Given the description of an element on the screen output the (x, y) to click on. 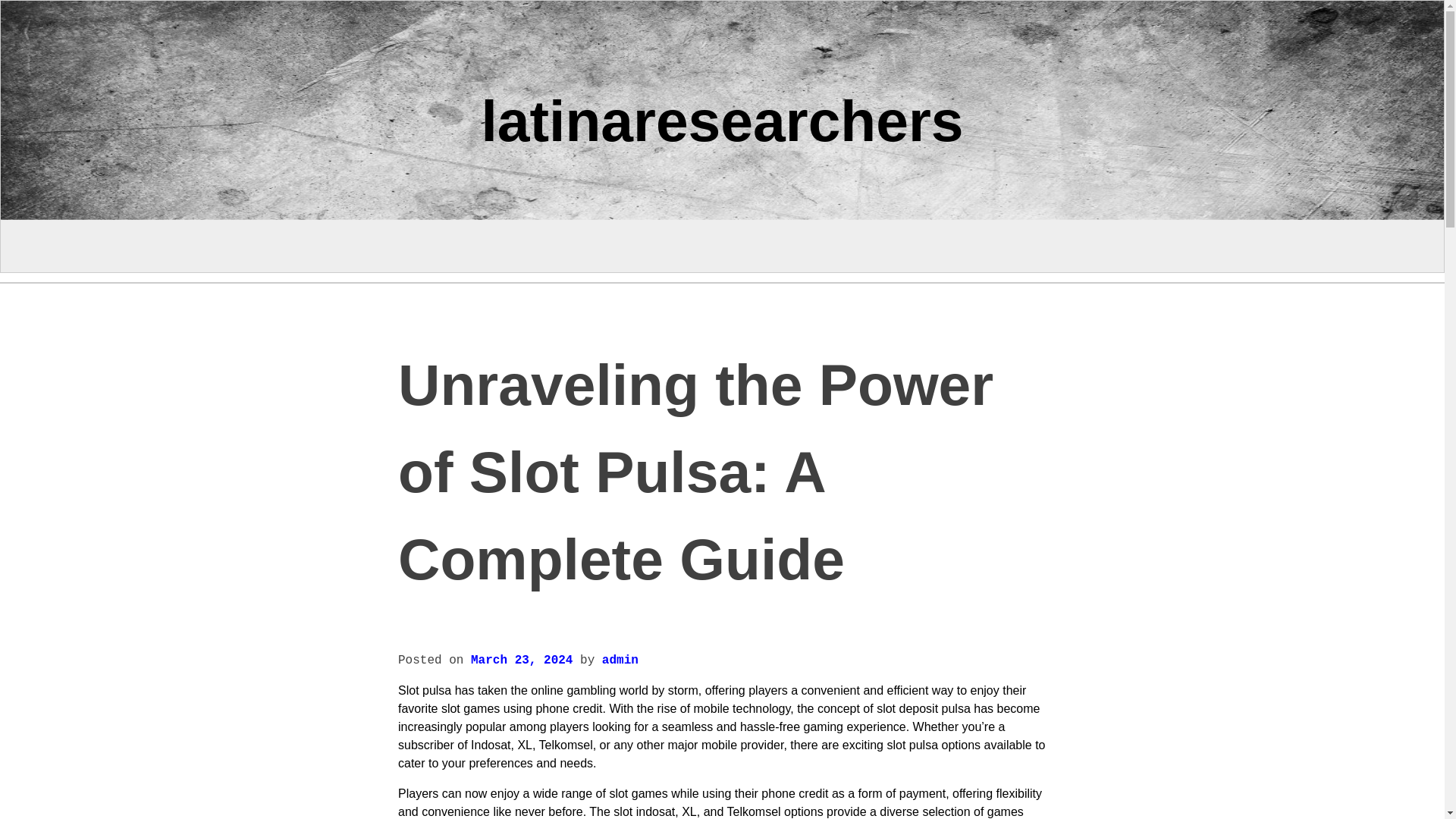
latinaresearchers (721, 120)
March 23, 2024 (521, 660)
admin (620, 660)
